Given the description of an element on the screen output the (x, y) to click on. 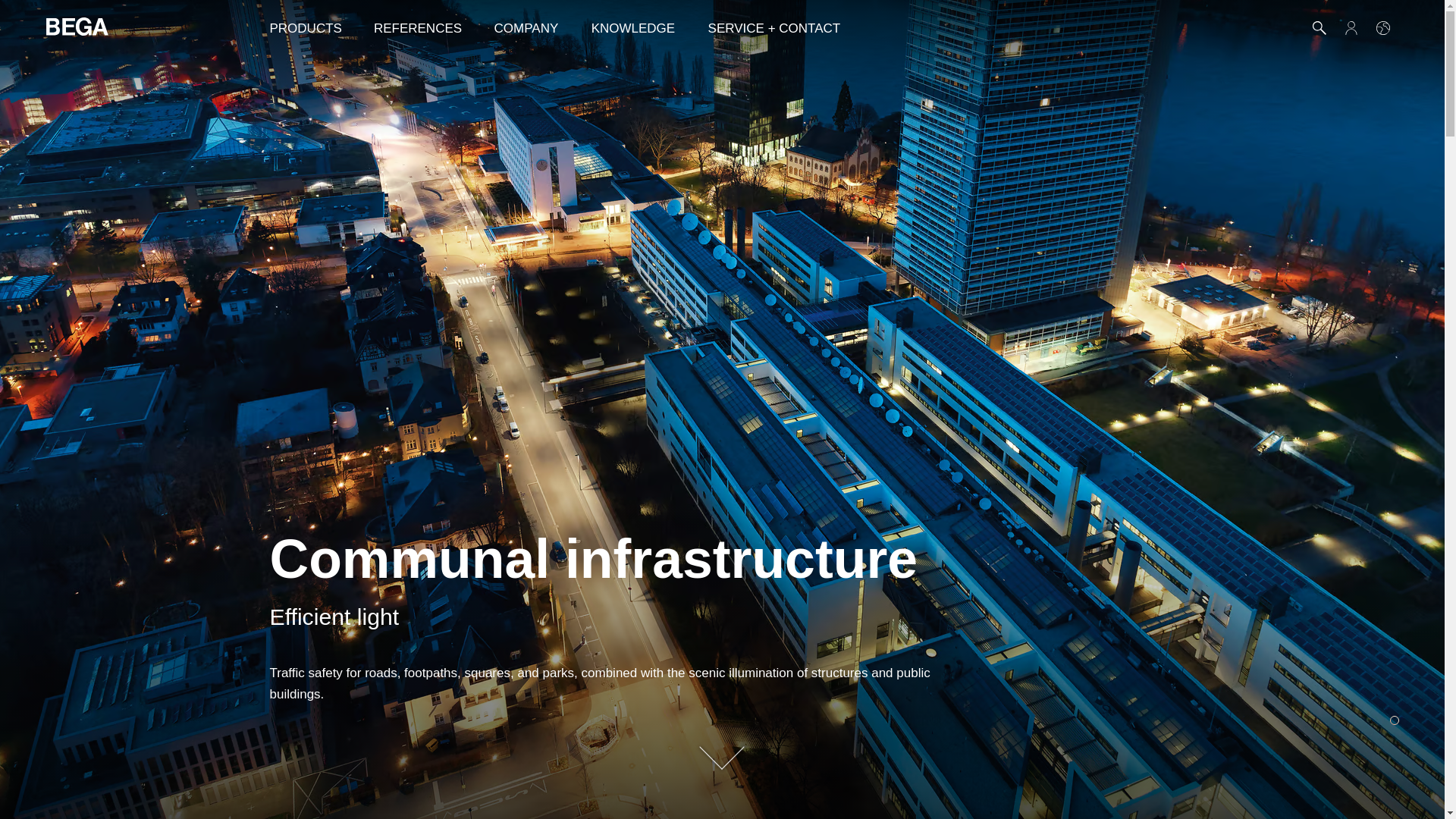
Company (526, 27)
COMPANY (526, 27)
Products (304, 27)
References (417, 27)
REFERENCES (417, 27)
Knowledge (633, 27)
KNOWLEDGE (633, 27)
PRODUCTS (304, 27)
